Given the description of an element on the screen output the (x, y) to click on. 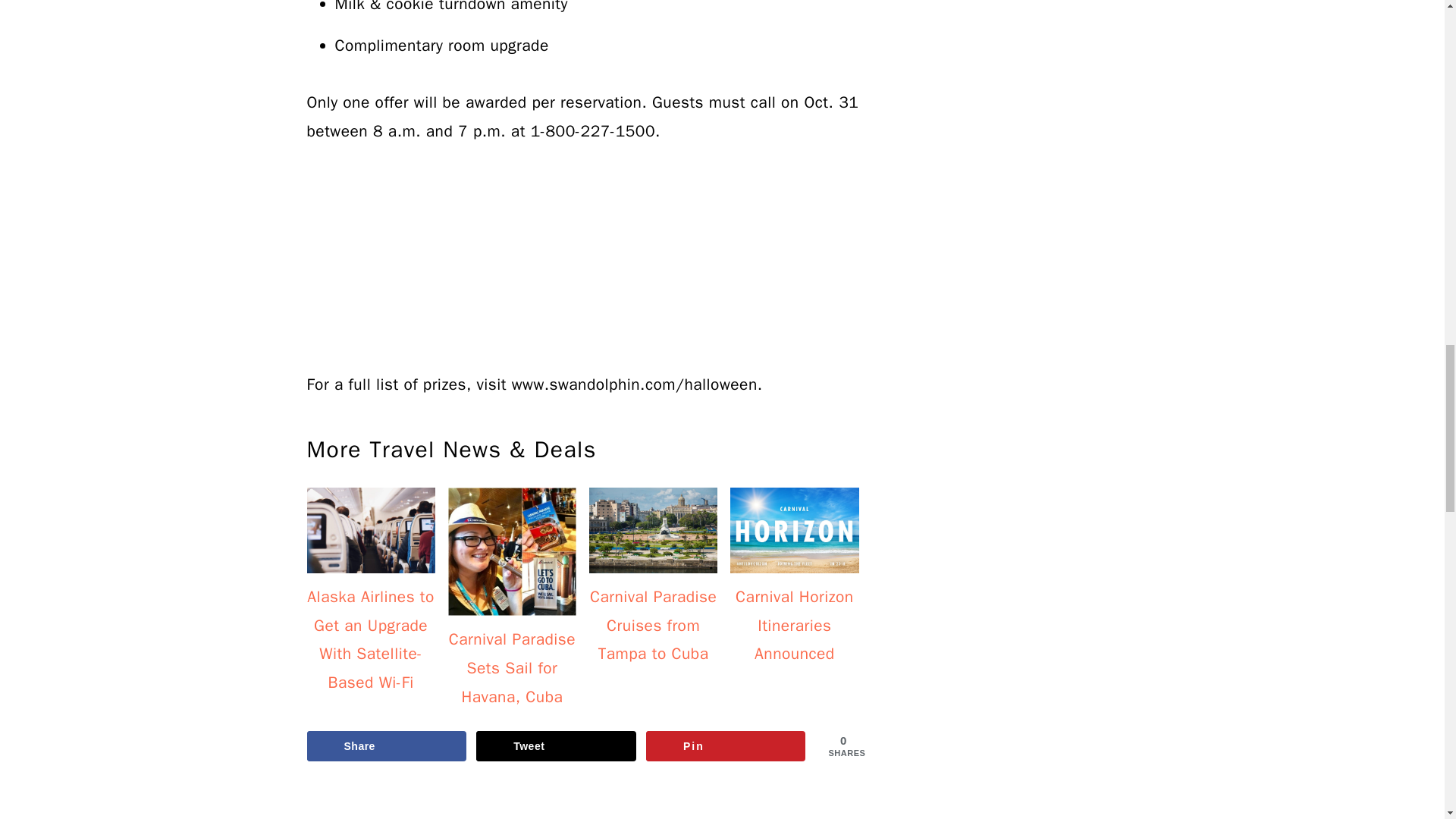
Save to Pinterest (726, 746)
Share on X (556, 746)
Share on Facebook (385, 746)
